Given the description of an element on the screen output the (x, y) to click on. 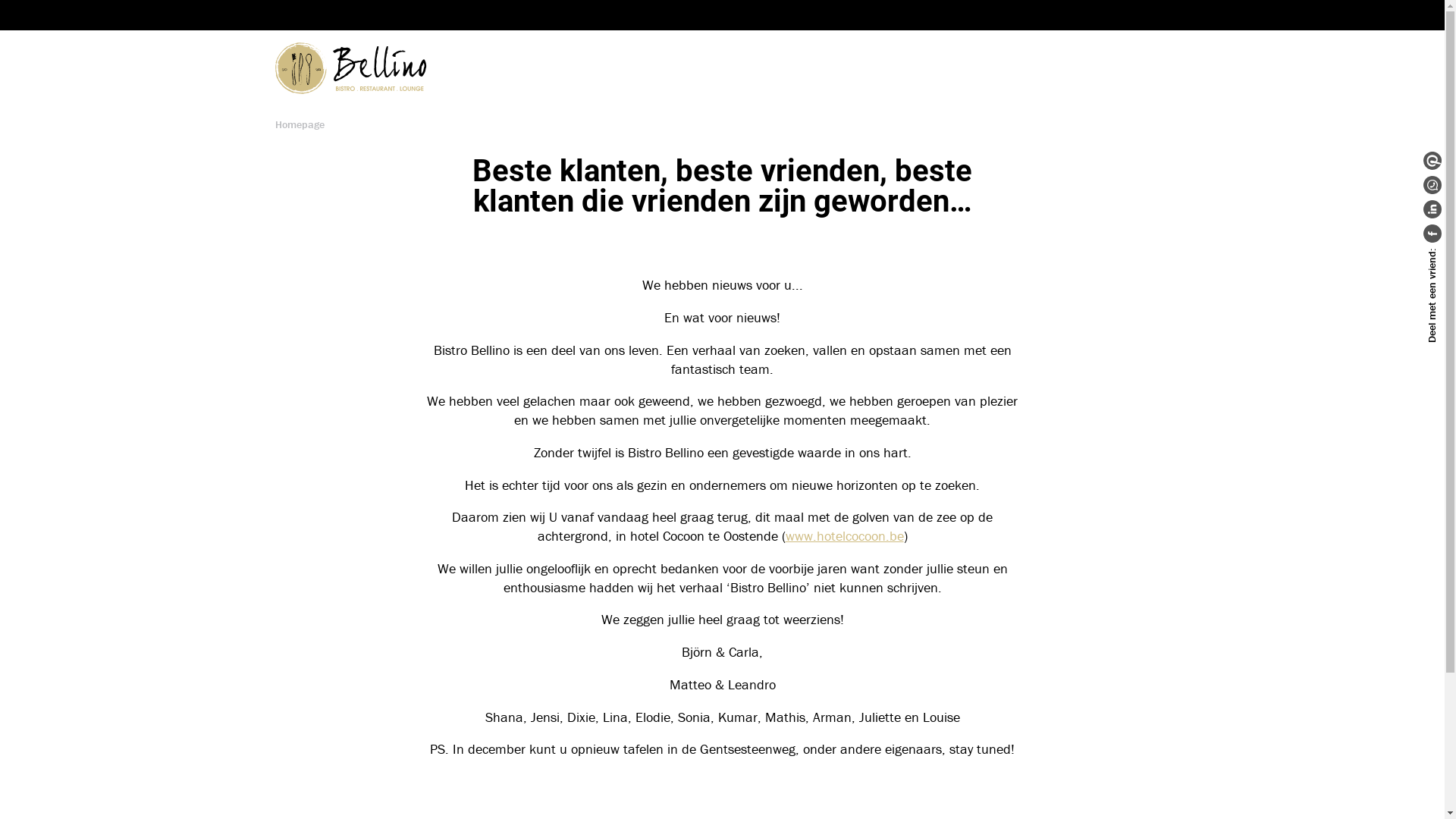
www.hotelcocoon.be Element type: text (844, 535)
Homepage Element type: text (298, 124)
